Given the description of an element on the screen output the (x, y) to click on. 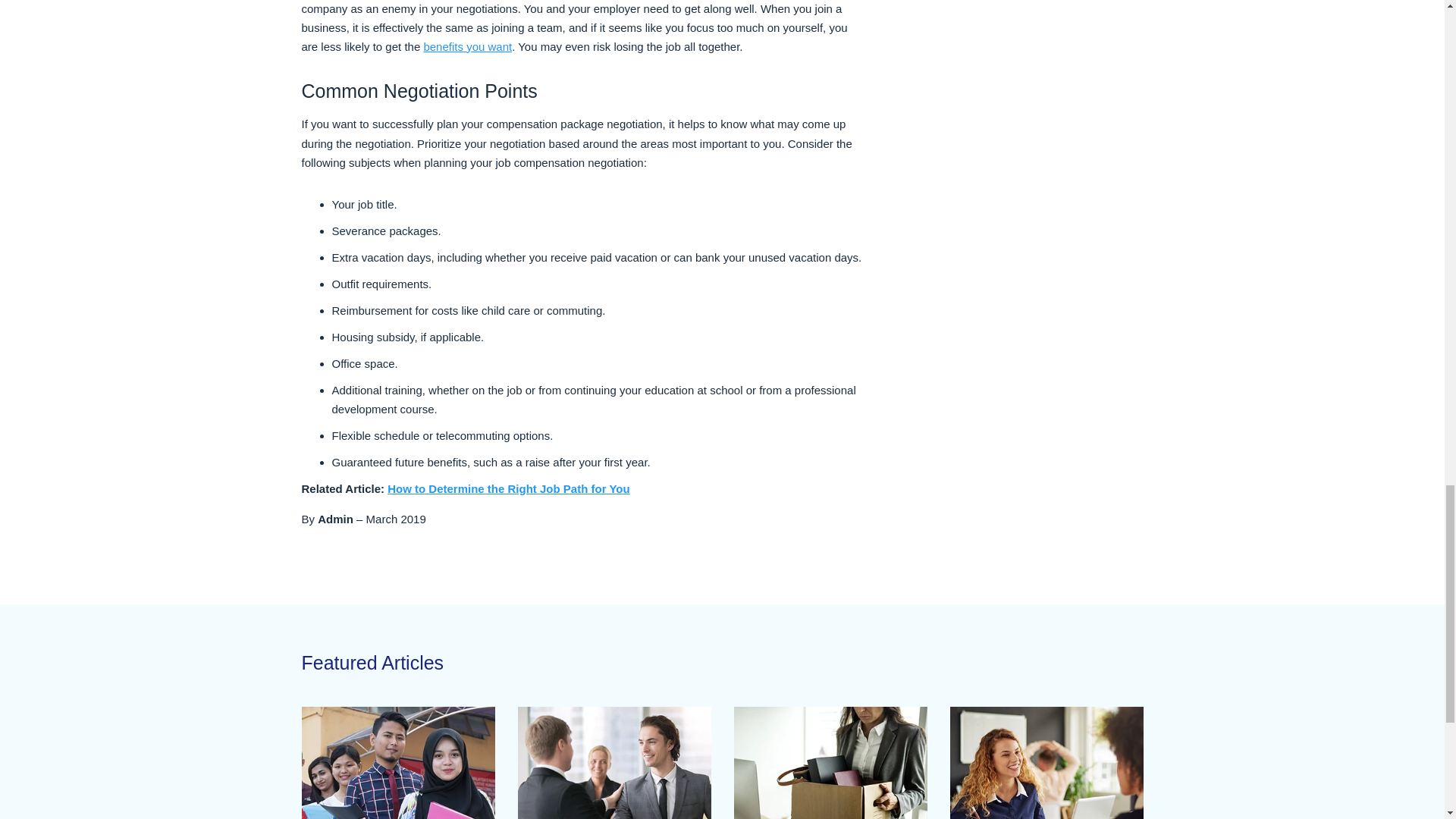
benefits you want (467, 46)
How to Determine the Right Job Path for You (507, 488)
